Given the description of an element on the screen output the (x, y) to click on. 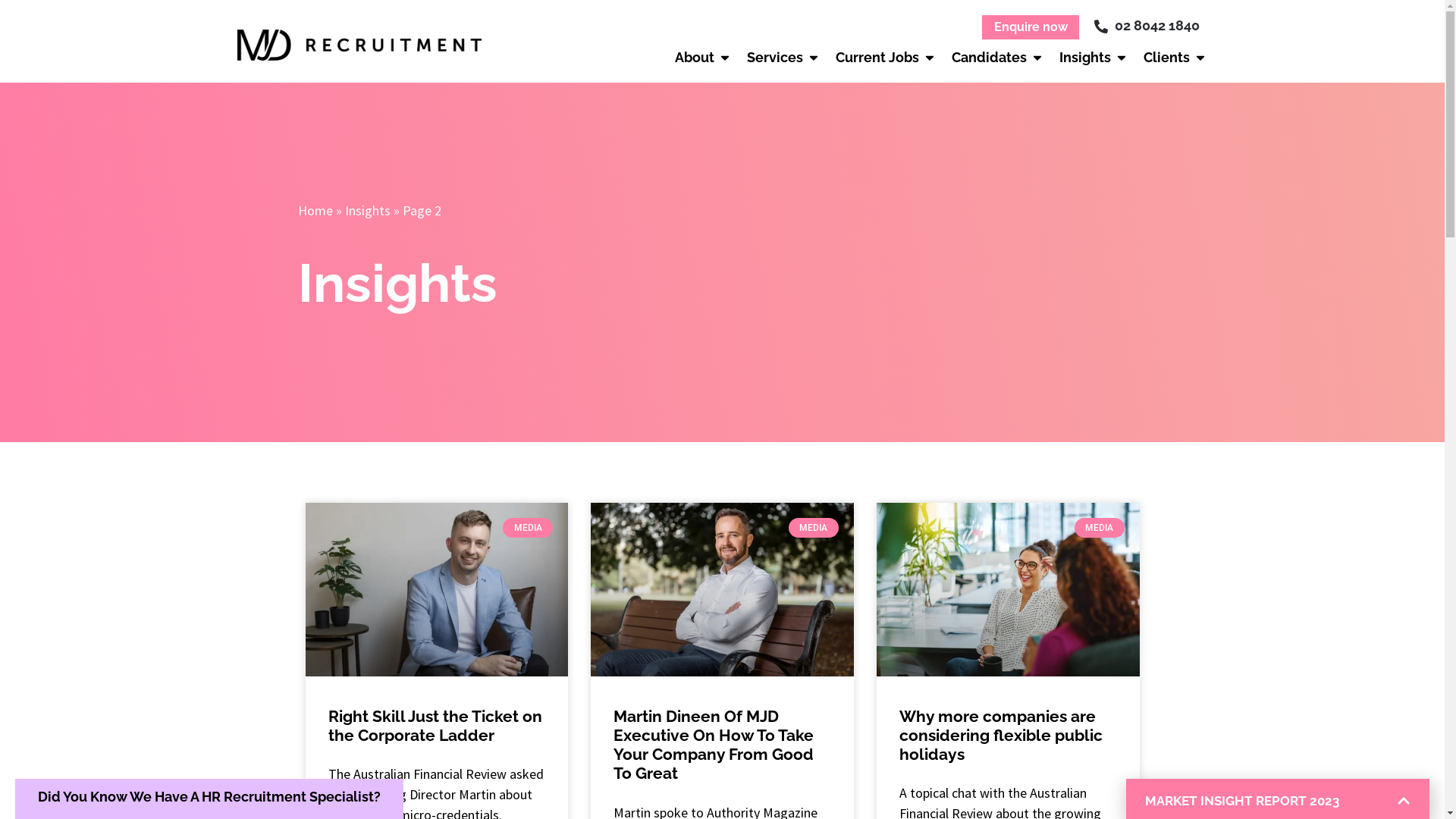
Right Skill Just the Ticket on the Corporate Ladder Element type: text (434, 725)
Current Jobs Element type: text (877, 57)
Candidates Element type: text (988, 57)
Insights Element type: text (1084, 57)
Insights Element type: text (366, 210)
Why more companies are considering flexible public holidays Element type: text (1000, 734)
02 8042 1840 Element type: text (1147, 25)
Clients Element type: text (1166, 57)
Services Element type: text (774, 57)
About Element type: text (694, 57)
Home Element type: text (314, 210)
Enquire now Element type: text (1030, 27)
